Given the description of an element on the screen output the (x, y) to click on. 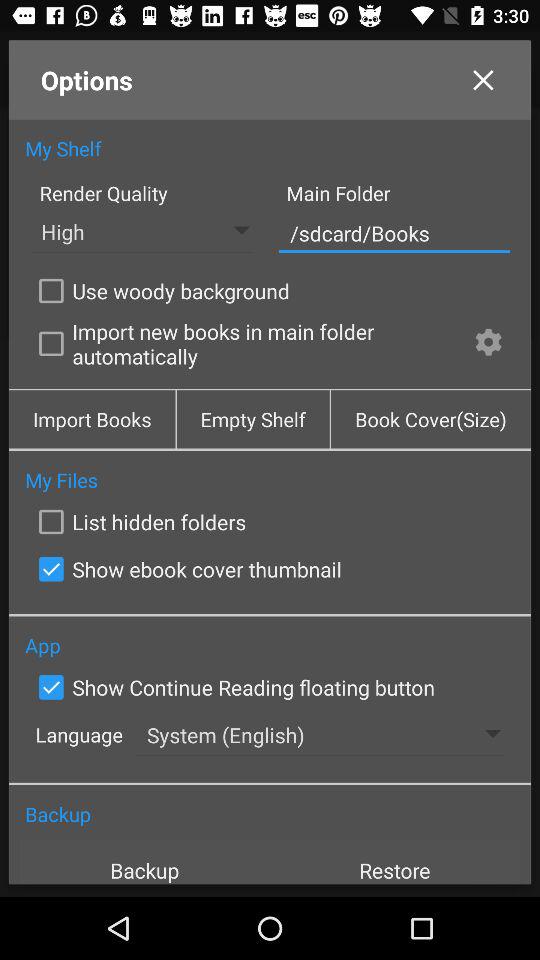
click show ebook cover icon (185, 569)
